Given the description of an element on the screen output the (x, y) to click on. 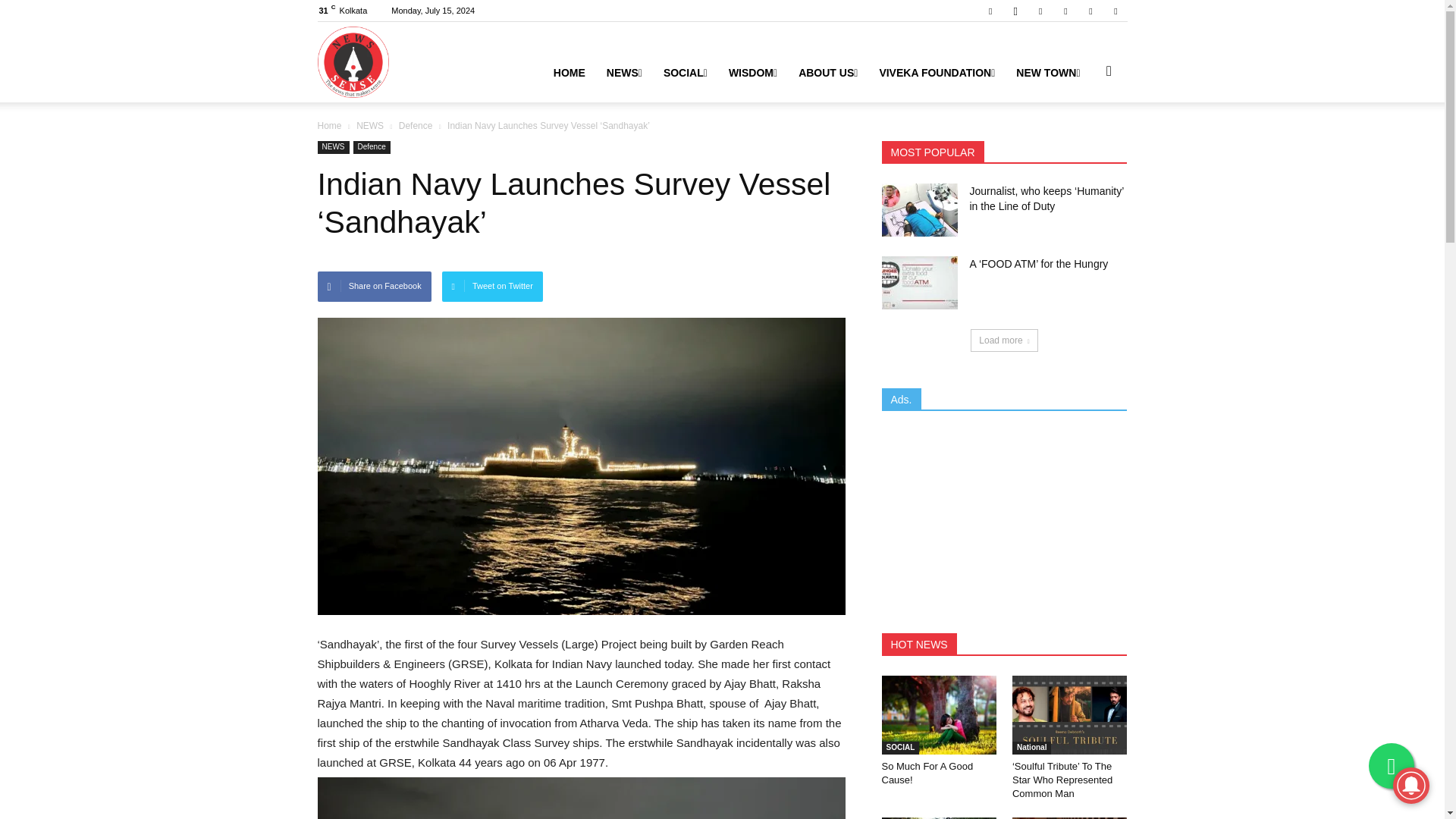
View all posts in NEWS (370, 125)
Instagram (1015, 10)
Linkedin (1040, 10)
Facebook (989, 10)
Twitter (1090, 10)
RSS (1065, 10)
Youtube (1114, 10)
View all posts in Defence (416, 125)
